Given the description of an element on the screen output the (x, y) to click on. 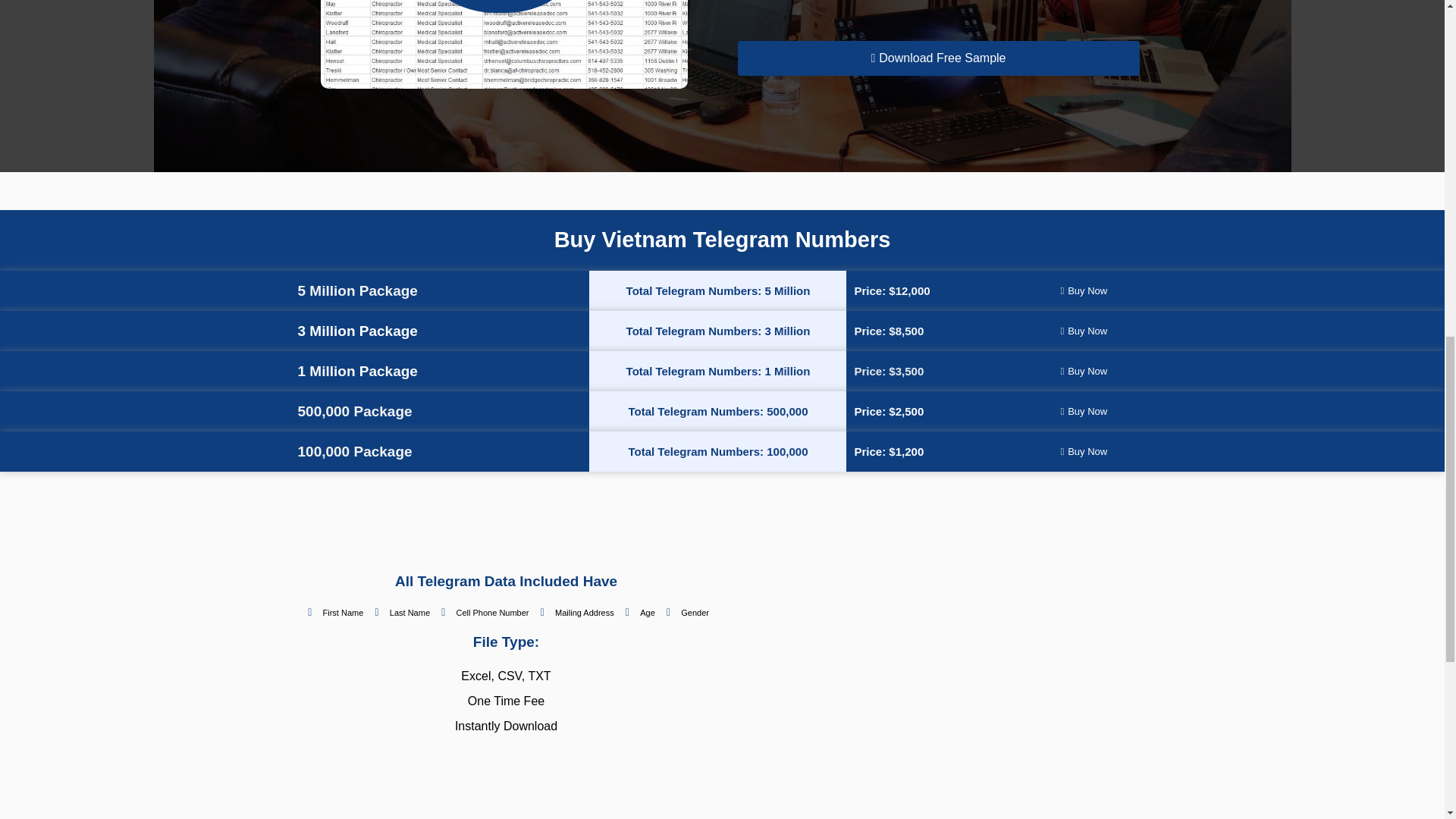
Buy Now (1083, 290)
Buy Now (1083, 411)
Buy Now (1083, 451)
Download Free Sample (937, 58)
Buy Now (1083, 330)
Buy Now (1083, 371)
